Given the description of an element on the screen output the (x, y) to click on. 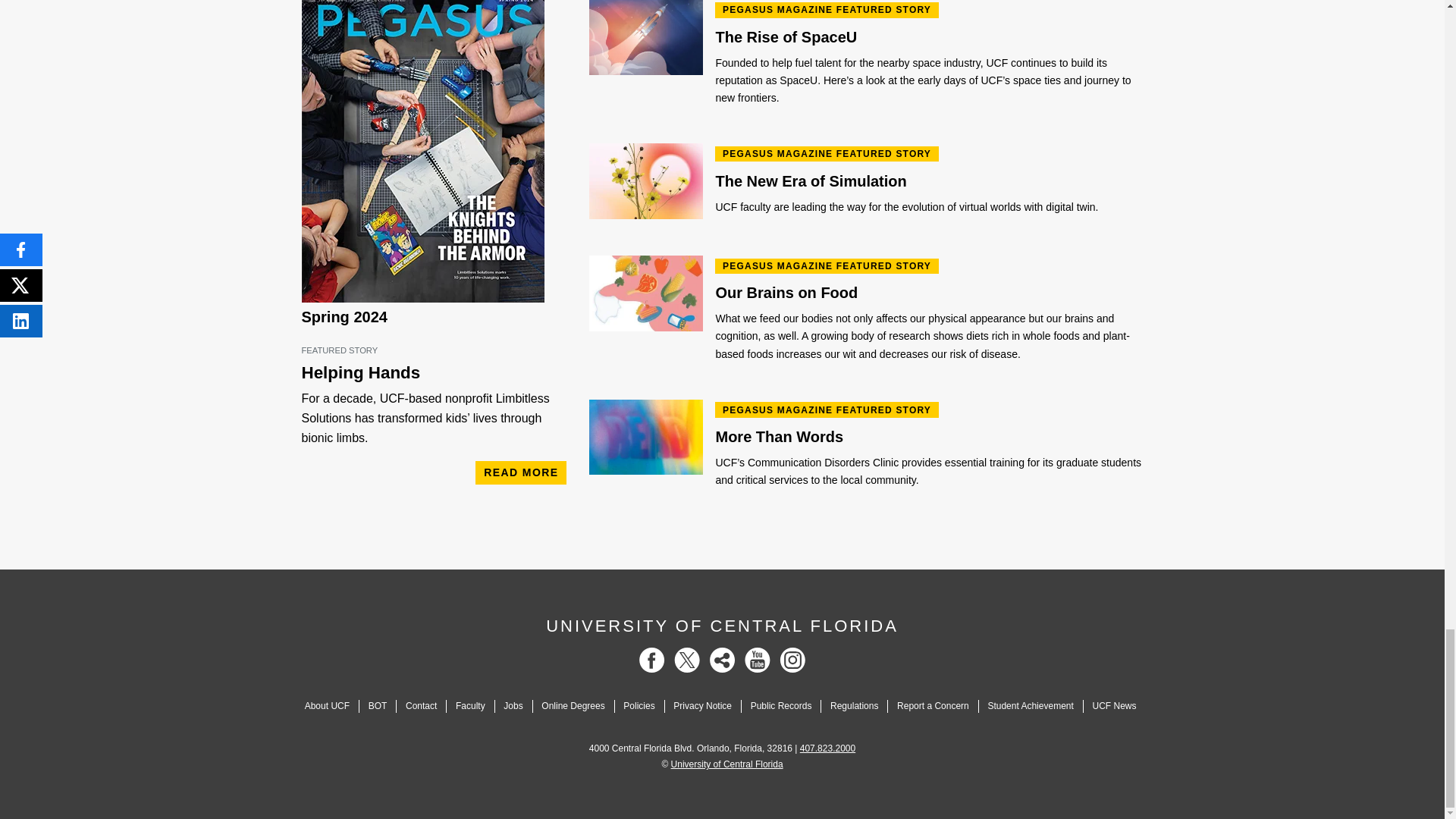
The Rise of SpaceU (928, 38)
Our Brains on Food (928, 293)
UCF Board of Trustees (377, 706)
UNIVERSITY OF CENTRAL FLORIDA (722, 626)
Spring 2024 (344, 316)
The New Era of Simulation (928, 182)
More Than Words (928, 437)
Helping Hands (434, 373)
